Given the description of an element on the screen output the (x, y) to click on. 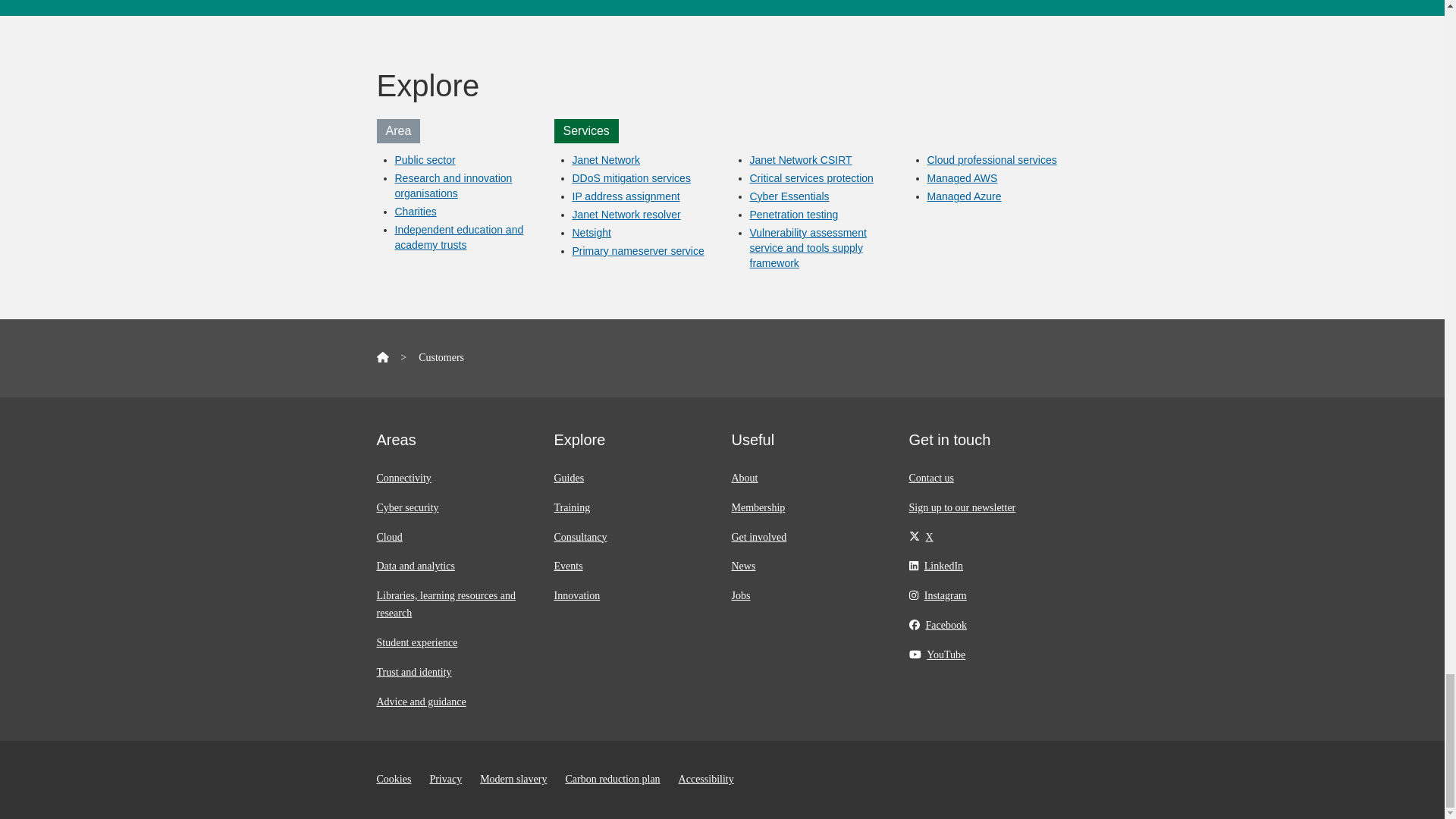
Vulnerability assessment service and tools supply framework (807, 247)
Janet Network CSIRT (800, 159)
IP address assignment (625, 196)
Jisc homepage (381, 357)
Public sector (424, 159)
Cloud professional services (991, 159)
Penetration testing (793, 214)
Independent education and academy trusts (458, 236)
Janet Network (605, 159)
Managed AWS (961, 177)
